Given the description of an element on the screen output the (x, y) to click on. 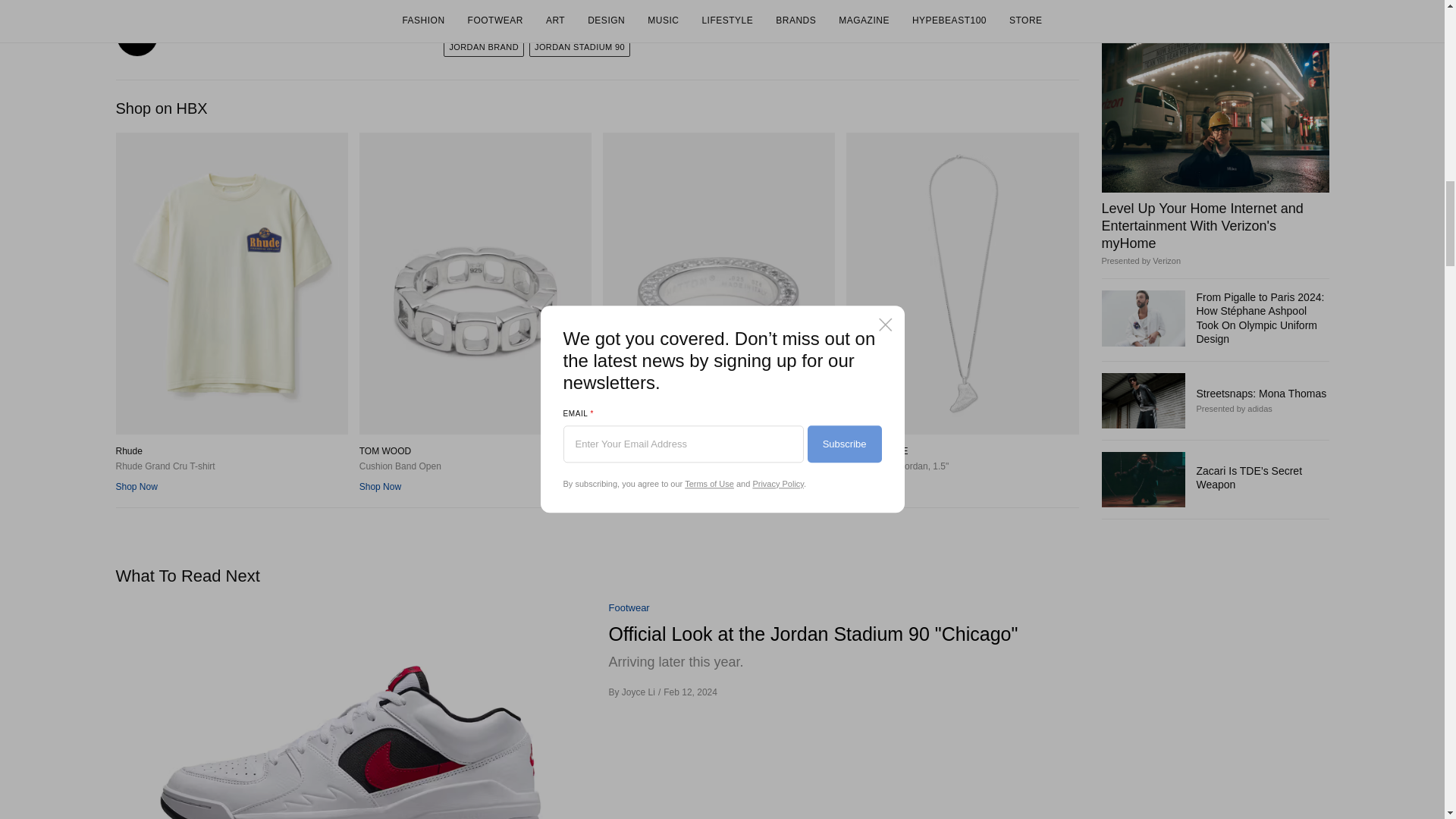
Jordan Brand (484, 46)
Jordan Stadium 90 (579, 46)
